Given the description of an element on the screen output the (x, y) to click on. 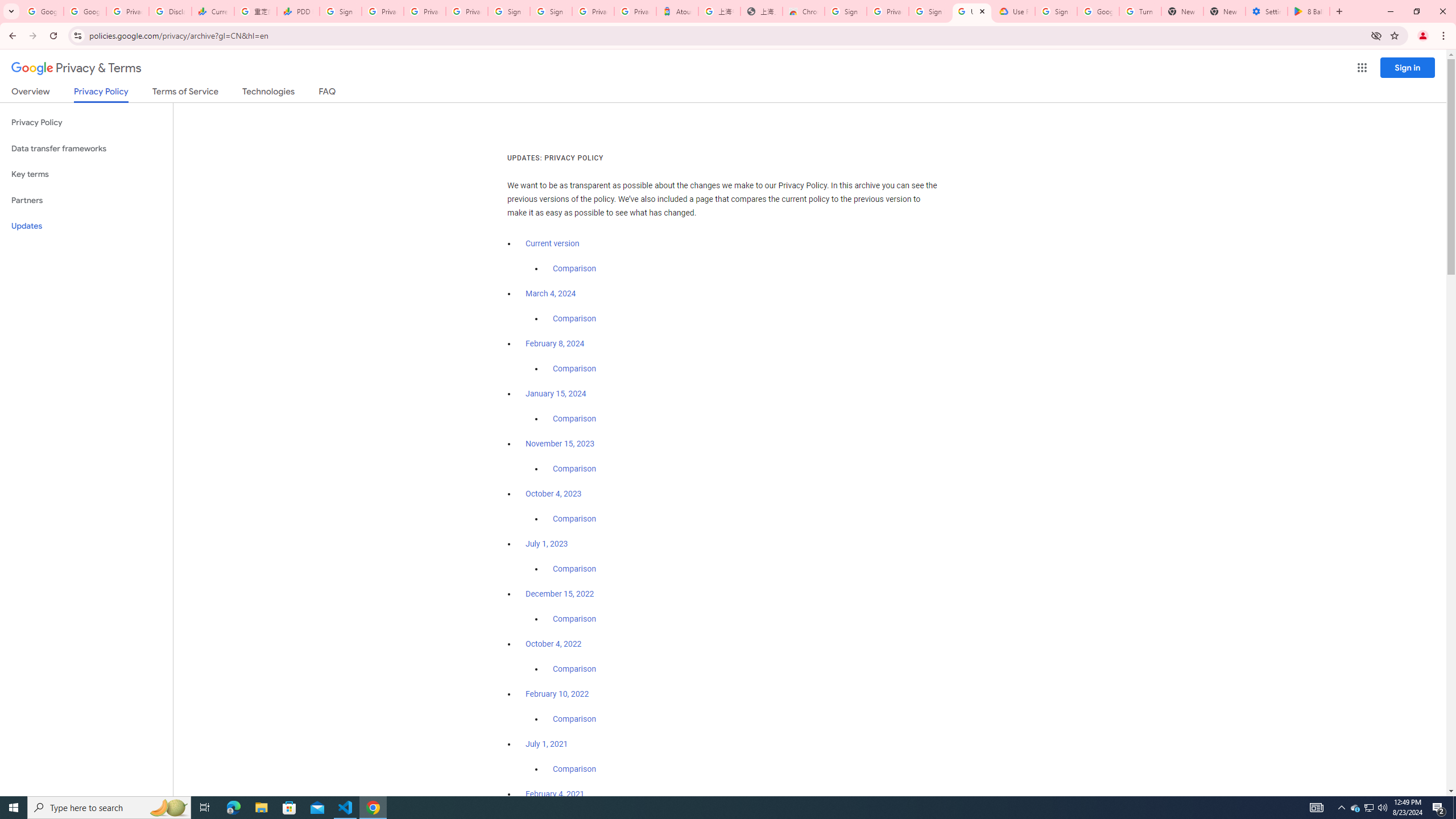
Currencies - Google Finance (212, 11)
Settings - System (1266, 11)
Sign in - Google Accounts (509, 11)
February 10, 2022 (557, 693)
Privacy Checkup (424, 11)
Google Account Help (1097, 11)
